Given the description of an element on the screen output the (x, y) to click on. 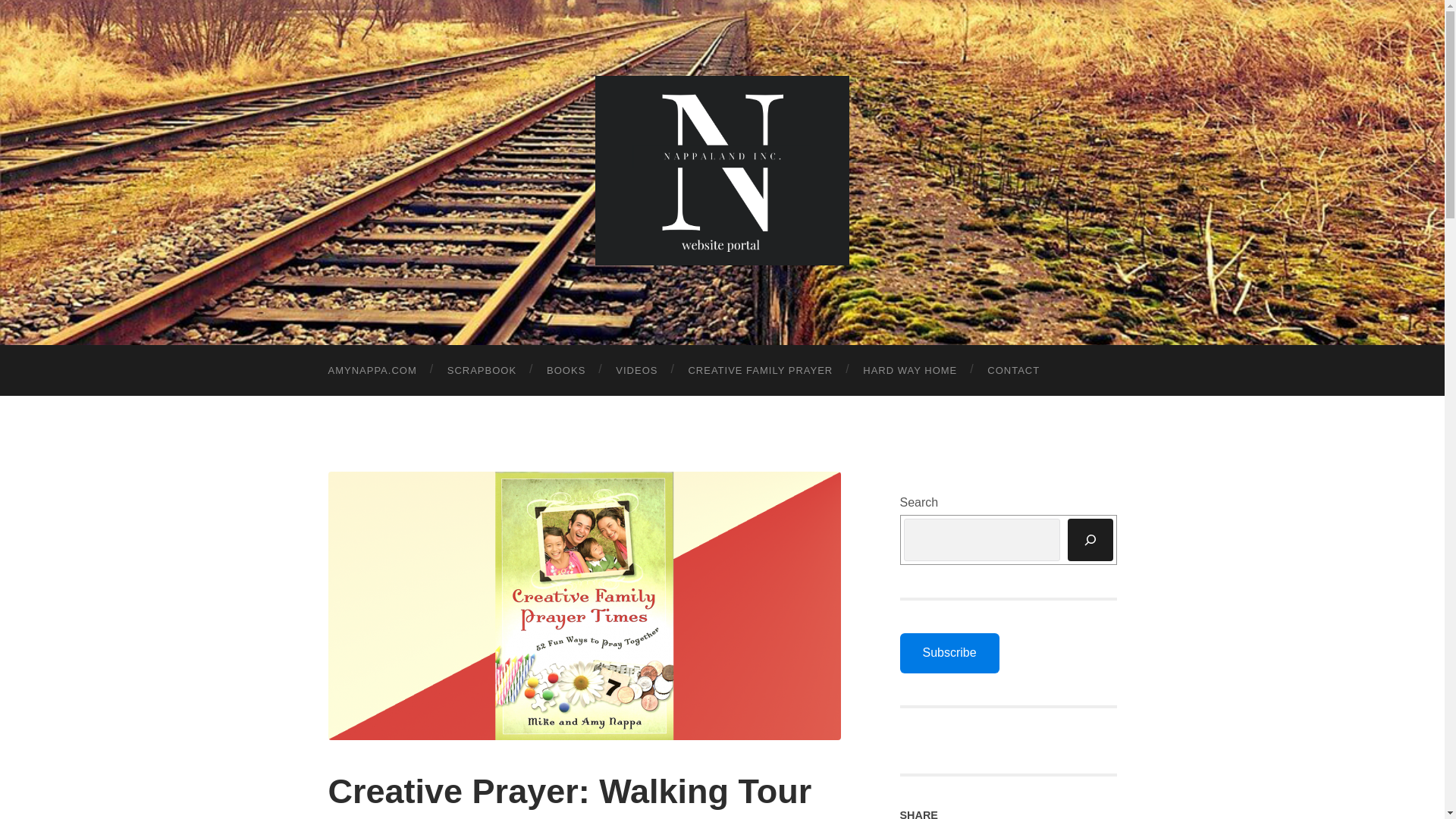
HARD WAY HOME (909, 369)
BOOKS (565, 369)
SCRAPBOOK (481, 369)
CONTACT (1013, 369)
VIDEOS (635, 369)
AMYNAPPA.COM (371, 369)
Nappaland Website Portal (721, 170)
CREATIVE FAMILY PRAYER (759, 369)
